Given the description of an element on the screen output the (x, y) to click on. 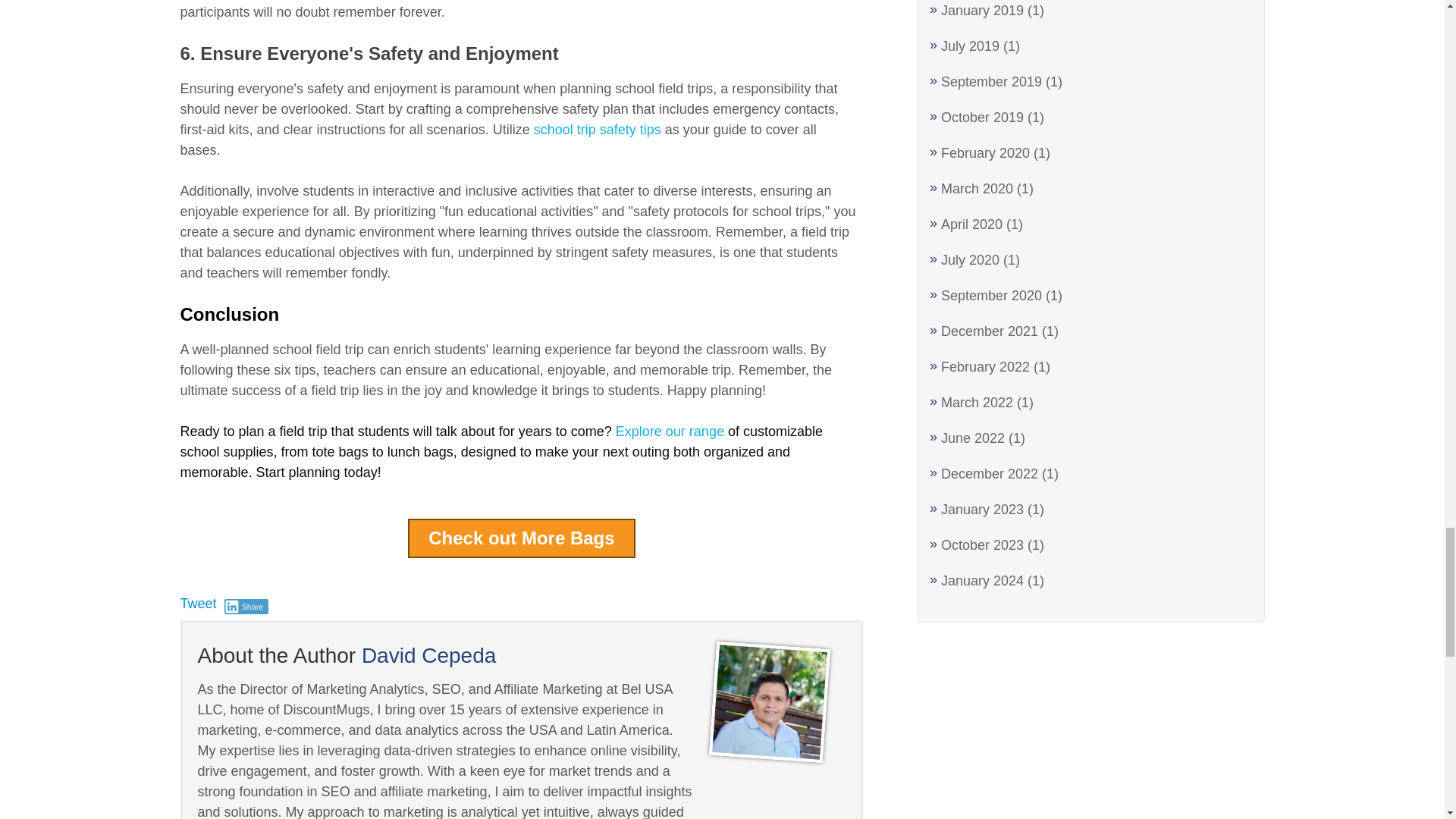
Check out More Bags (520, 537)
